Given the description of an element on the screen output the (x, y) to click on. 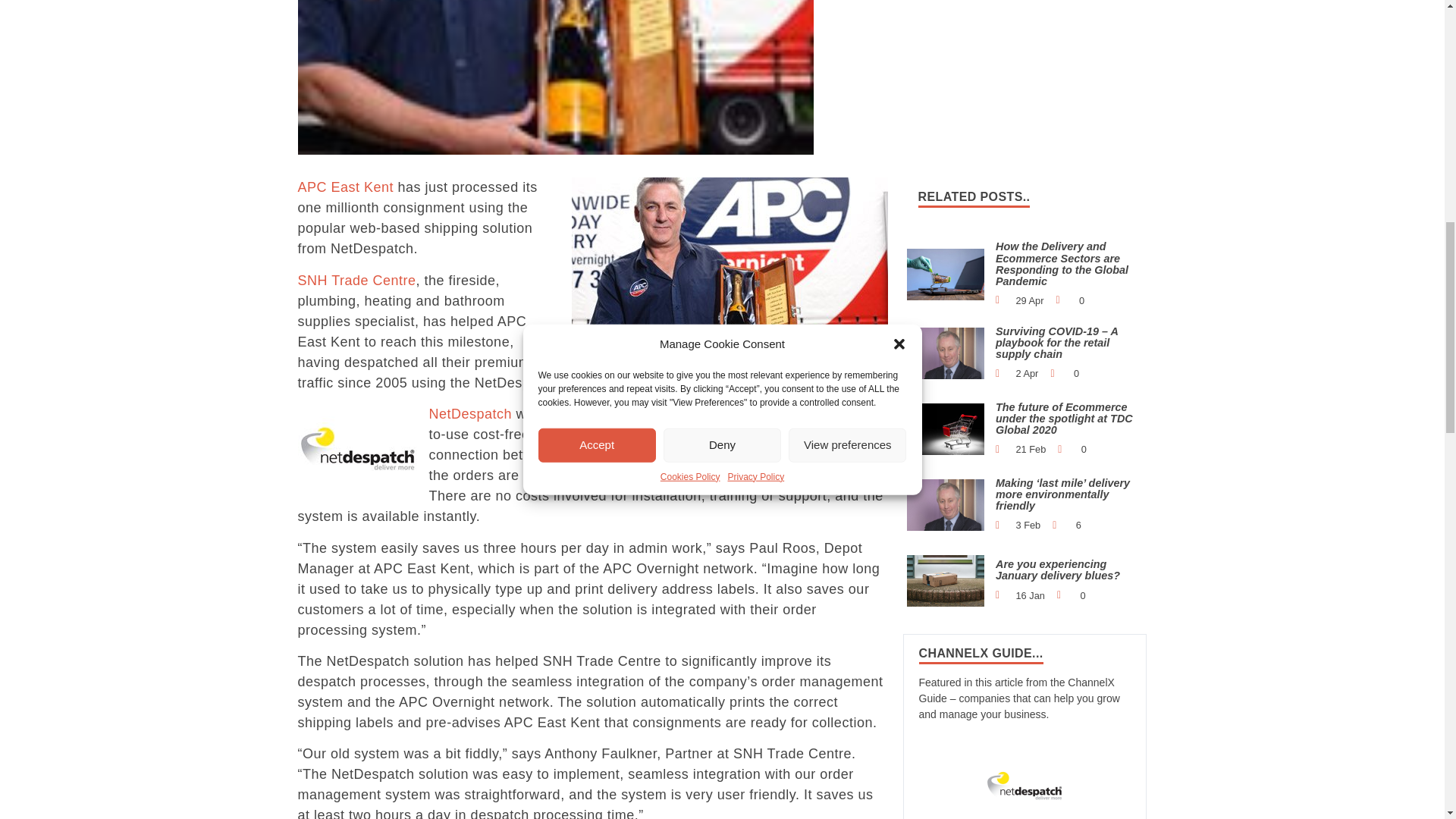
Matthew-Robertson-Co-CEO-at-NetDespatch (946, 353)
Matthew-Robertson-Co-CEO-at-NetDespatch (946, 504)
shopping cart on black background (946, 429)
Package left on porch in the rain (946, 580)
